Given the description of an element on the screen output the (x, y) to click on. 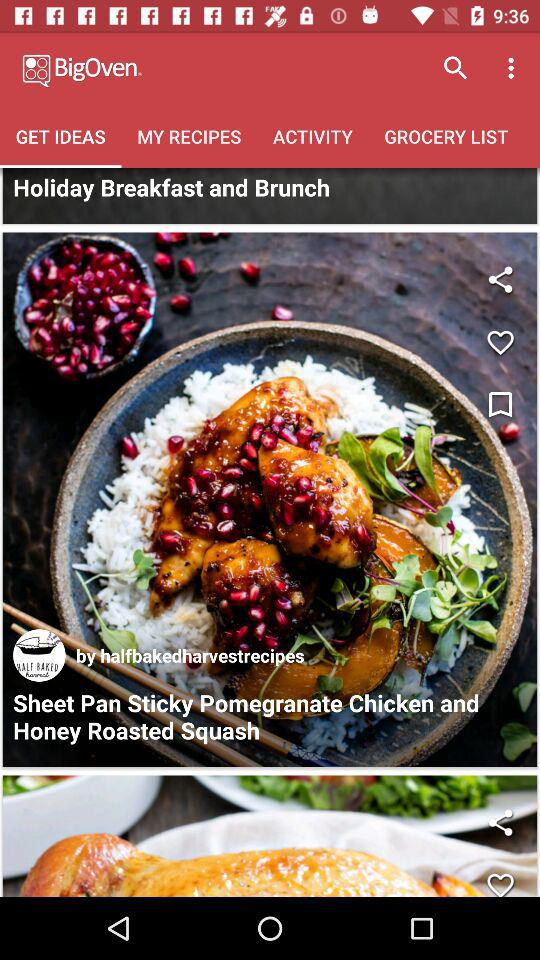
displays a menu (500, 405)
